Given the description of an element on the screen output the (x, y) to click on. 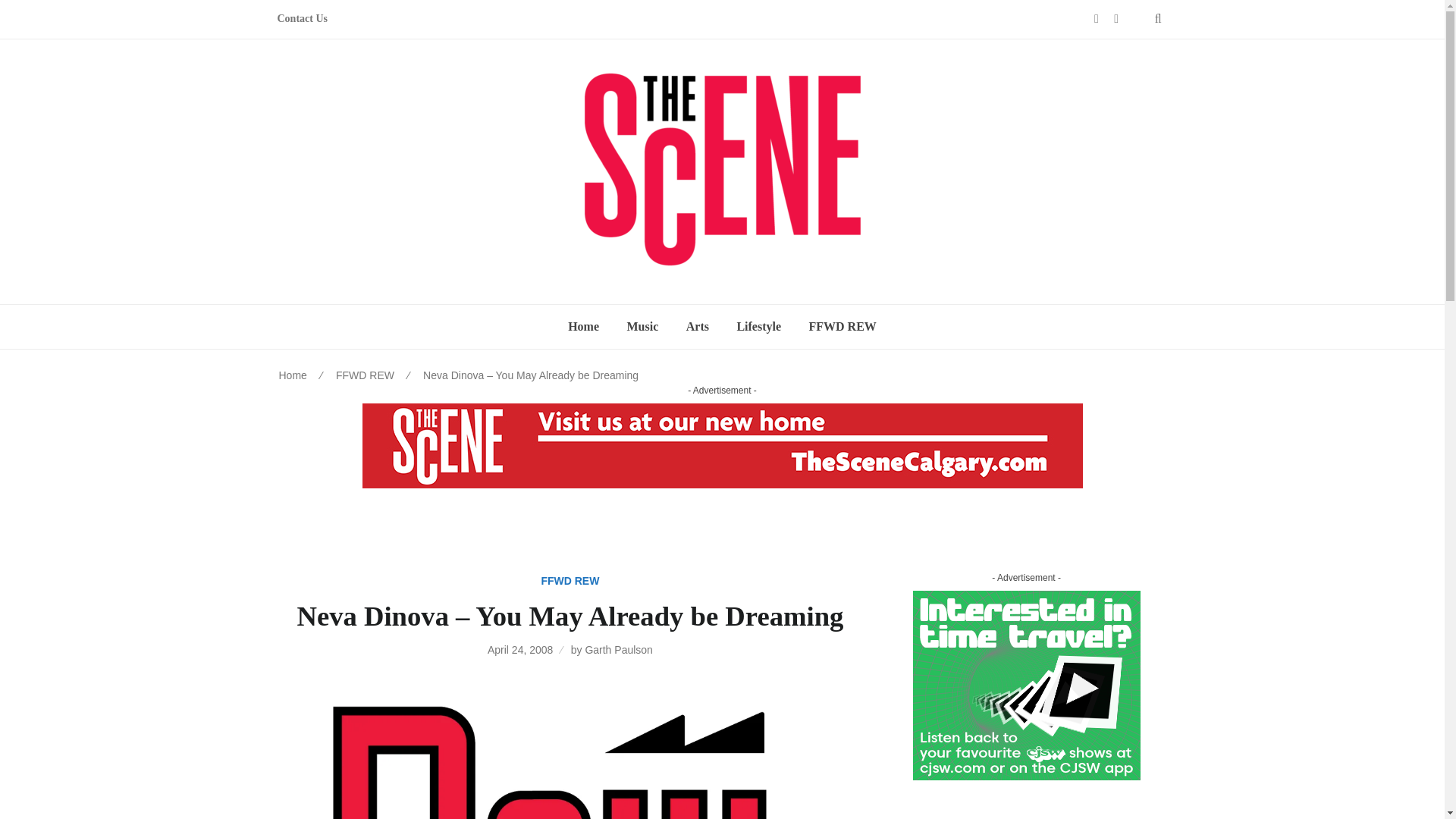
Home (583, 326)
Arts (697, 326)
Garth Paulson (618, 649)
FFWD REW (569, 580)
Music (641, 326)
April 24, 2008 (520, 649)
Lifestyle (758, 326)
FFWD REW (365, 375)
FFWD REW (842, 326)
Contact Us (302, 19)
Home (293, 375)
